Given the description of an element on the screen output the (x, y) to click on. 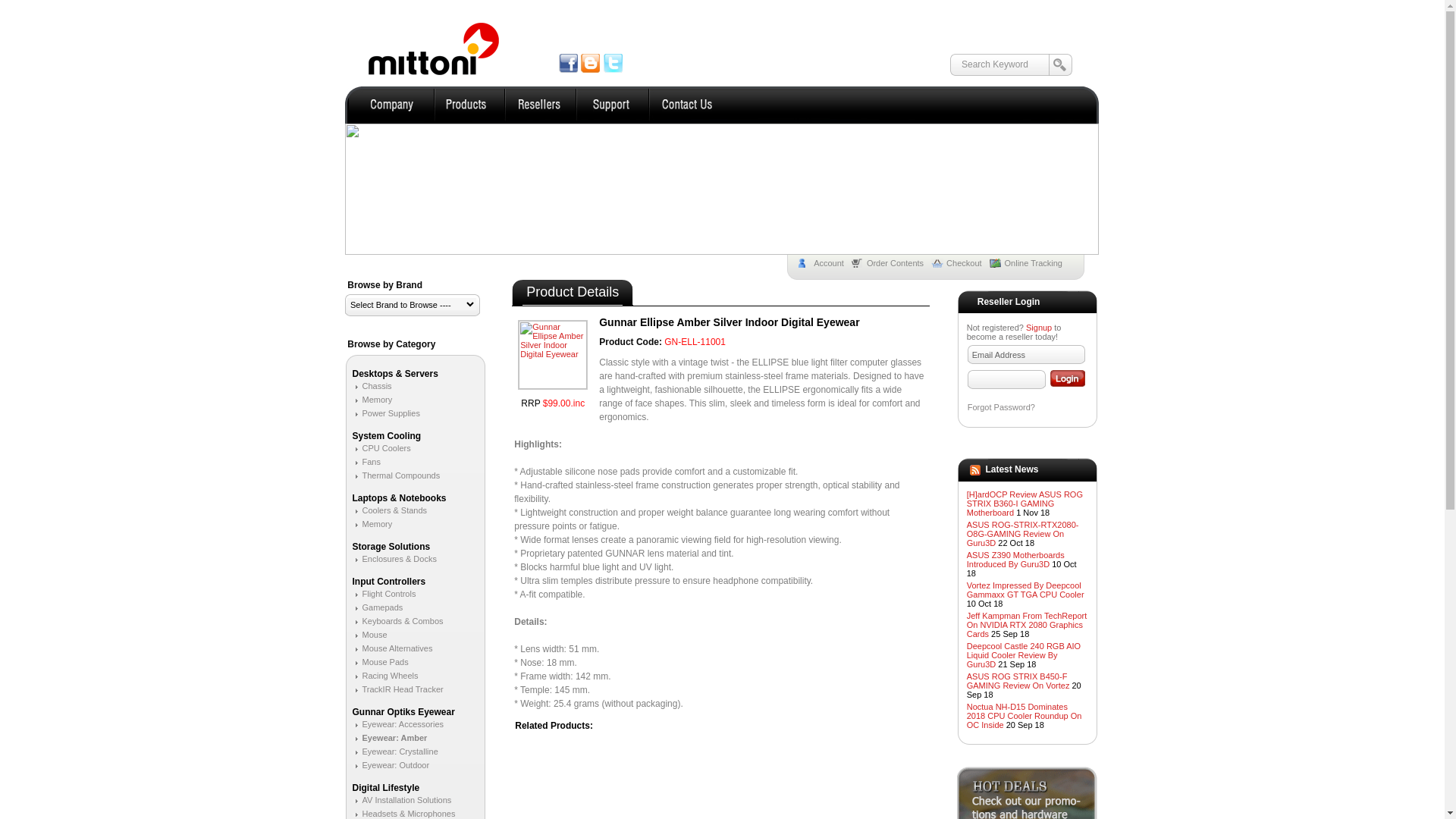
Chassis Element type: text (371, 385)
AV Installation Solutions Element type: text (401, 799)
Noctua NH-D15 Dominates 2018 CPU Cooler Roundup On OC Inside Element type: text (1024, 715)
Memory Element type: text (371, 523)
Eyewear: Accessories Element type: text (397, 723)
TrackIR Head Tracker Element type: text (396, 688)
Order Contents Element type: text (891, 262)
Deepcool Castle 240 RGB AIO Liquid Cooler Review By Guru3D Element type: text (1023, 654)
Gamepads Element type: text (376, 606)
Keyboards & Combos Element type: text (396, 620)
Eyewear: Amber Element type: text (388, 737)
Online Tracking Element type: text (1029, 262)
 Gunnar Ellipse Amber Silver Indoor Digital Eyewear  Element type: hover (552, 354)
Fans Element type: text (365, 461)
Mouse Pads Element type: text (379, 661)
ASUS Z390 Motherboards Introduced By Guru3D Element type: text (1015, 559)
Vortez Impressed By Deepcool Gammaxx GT TGA CPU Cooler Element type: text (1025, 589)
Flight Controls Element type: text (383, 593)
Enclosures & Docks Element type: text (393, 558)
Signup Element type: text (1038, 327)
Account Element type: text (824, 262)
Eyewear: Outdoor Element type: text (390, 764)
Power Supplies Element type: text (385, 412)
Memory Element type: text (371, 399)
Racing Wheels Element type: text (384, 675)
Forgot Password? Element type: text (1001, 406)
Coolers & Stands Element type: text (388, 509)
ASUS ROG STRIX B450-F GAMING Review On Vortez Element type: text (1018, 680)
Mouse Alternatives Element type: text (391, 647)
ASUS ROG-STRIX-RTX2080-O8G-GAMING Review On Guru3D Element type: text (1022, 533)
Eyewear: Crystalline Element type: text (394, 751)
CPU Coolers Element type: text (380, 447)
Thermal Compounds Element type: text (395, 475)
Headsets & Microphones Element type: text (403, 813)
Checkout Element type: text (959, 262)
Mouse Element type: text (368, 634)
[H]ardOCP Review ASUS ROG STRIX B360-I GAMING Motherboard Element type: text (1024, 503)
